Given the description of an element on the screen output the (x, y) to click on. 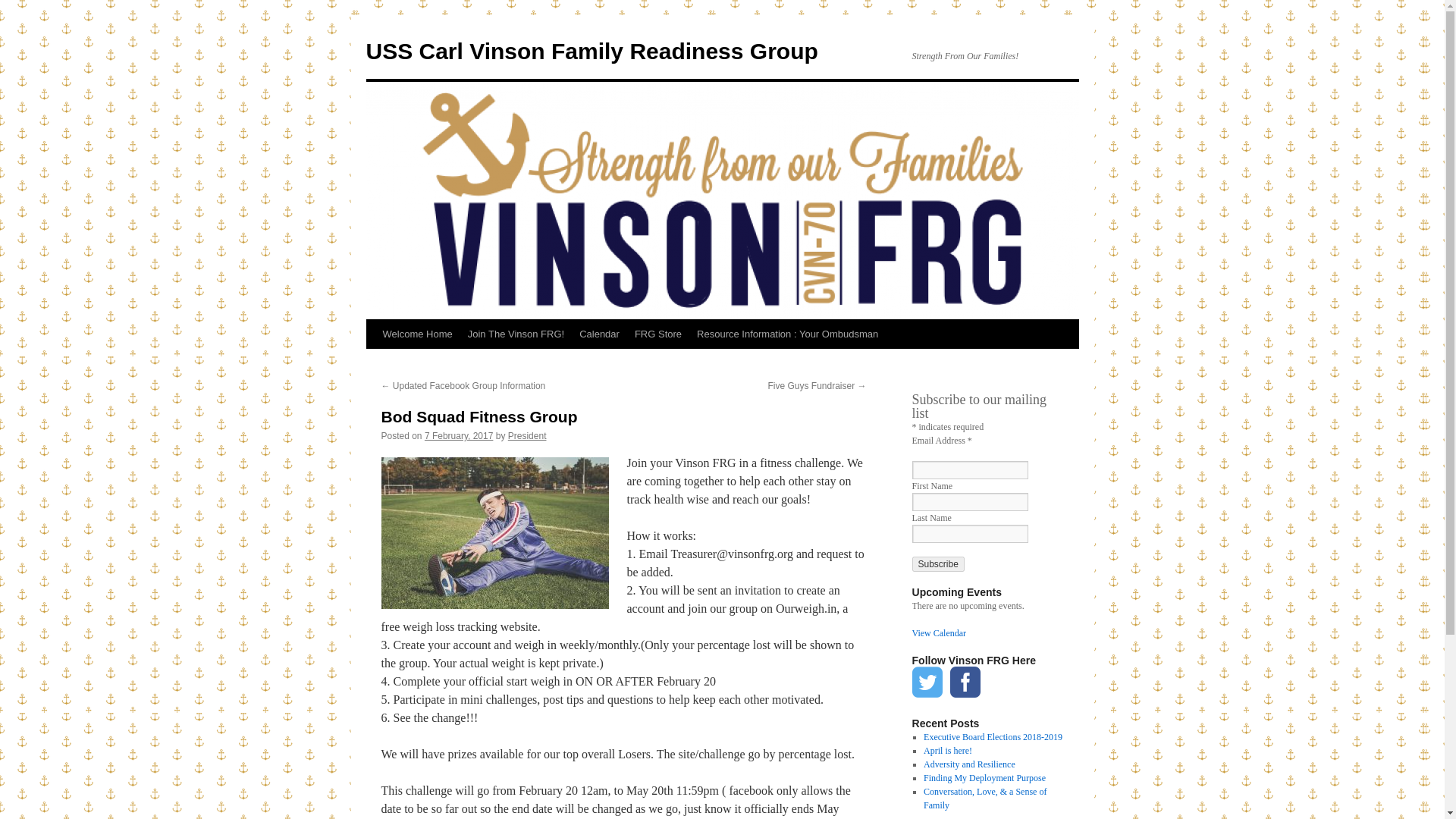
Resource Information : Your Ombudsman (786, 334)
Adversity and Resilience (968, 764)
FRG Store (657, 334)
USS Carl Vinson Family Readiness Group (590, 50)
View all posts by President (527, 435)
Welcome Home (417, 334)
8:31 pm (459, 435)
Finding My Deployment Purpose (984, 777)
Subscribe (937, 563)
Subscribe (937, 563)
